Given the description of an element on the screen output the (x, y) to click on. 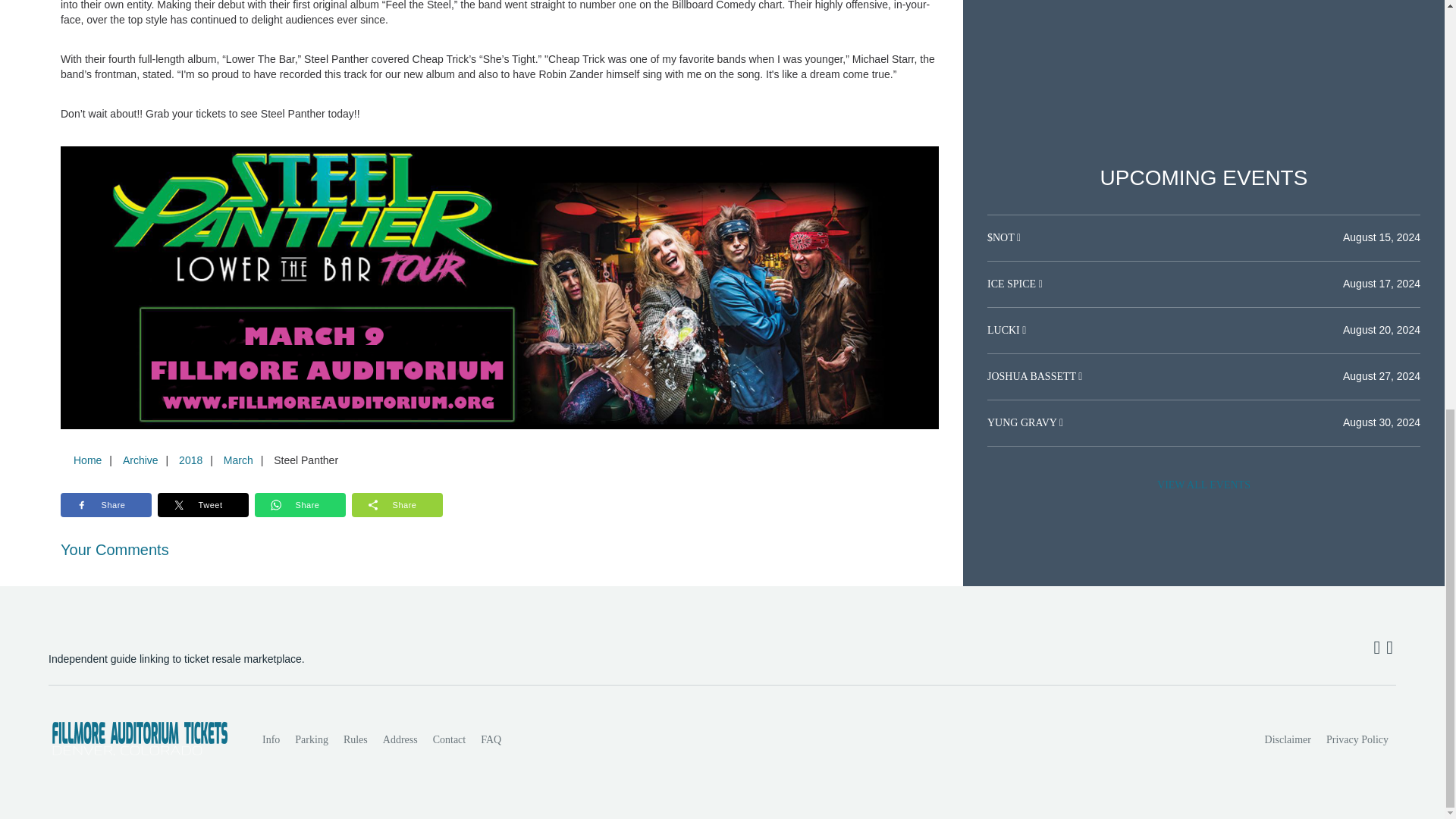
Contact (449, 739)
Archive (140, 460)
Parking (311, 739)
March (237, 460)
Address (400, 739)
Rules (355, 739)
Advertisement (1204, 58)
Home (87, 460)
YUNG GRAVY (1023, 422)
Disclaimer (1288, 739)
